Given the description of an element on the screen output the (x, y) to click on. 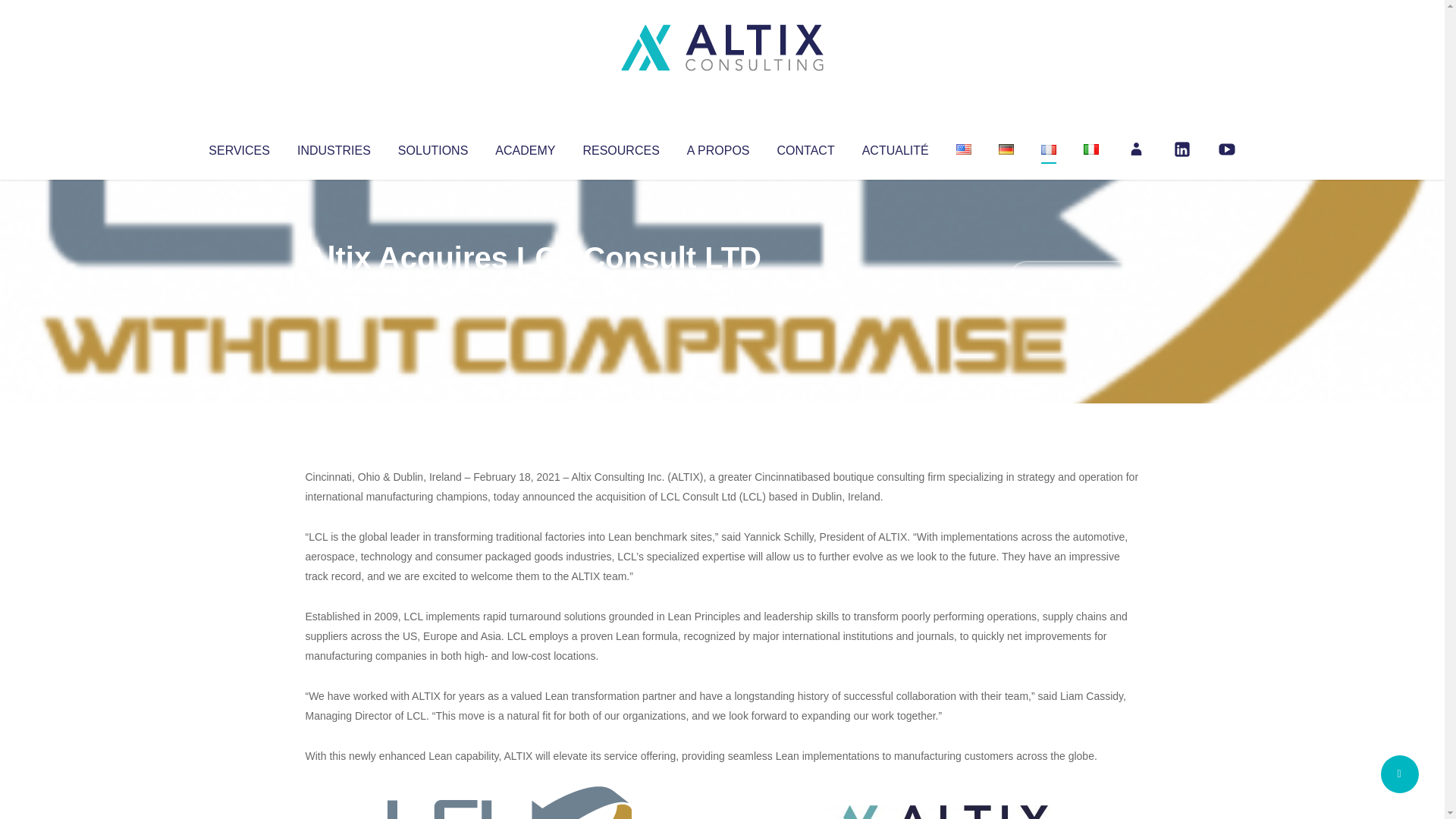
A PROPOS (718, 146)
Articles par Altix (333, 287)
SERVICES (238, 146)
No Comments (1073, 278)
RESOURCES (620, 146)
INDUSTRIES (334, 146)
SOLUTIONS (432, 146)
ACADEMY (524, 146)
Uncategorized (530, 287)
Altix (333, 287)
